Given the description of an element on the screen output the (x, y) to click on. 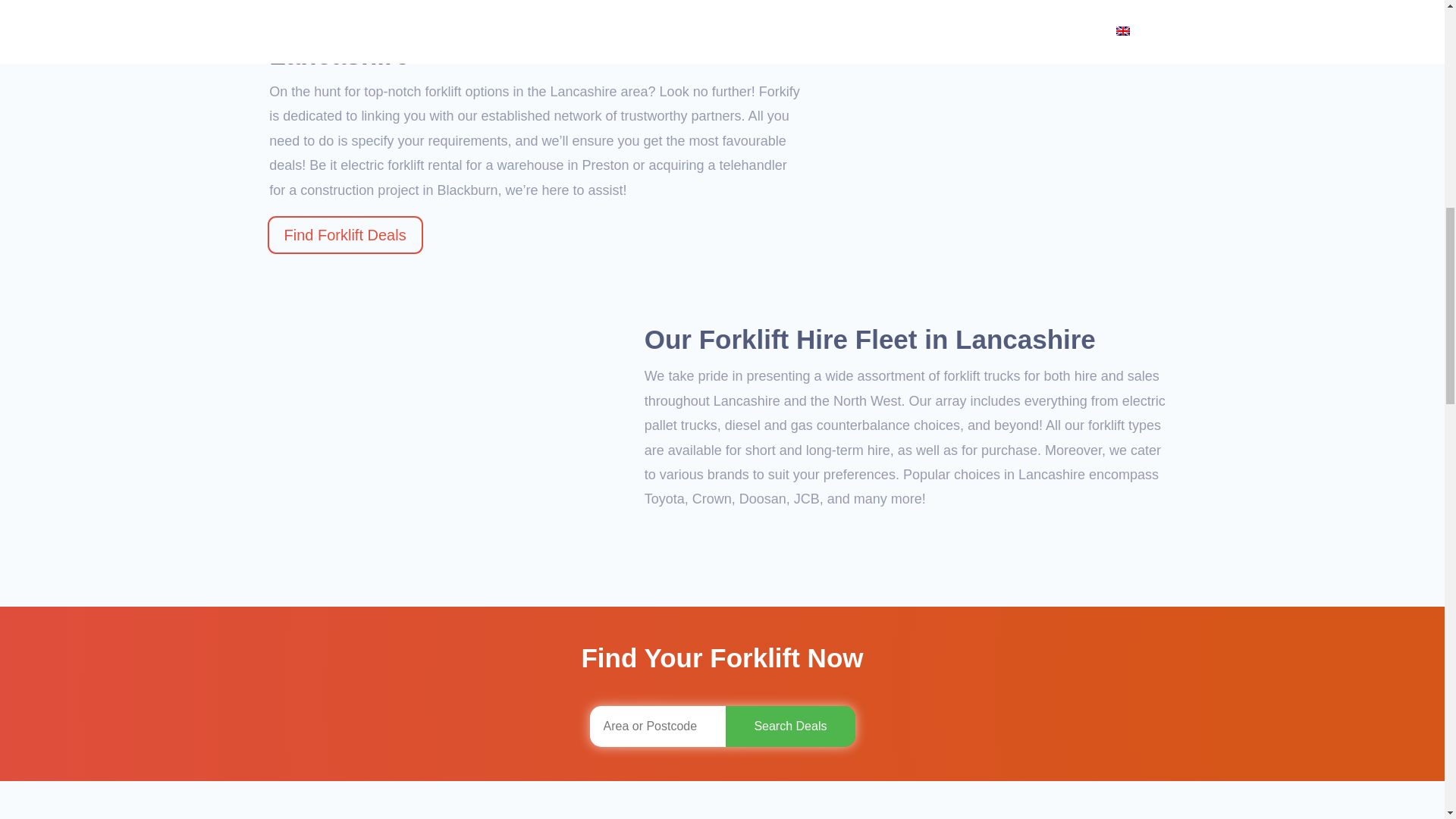
Search Deals (789, 725)
Search Deals (789, 725)
Find Forklift Deals (344, 234)
Search Deals (789, 725)
